Given the description of an element on the screen output the (x, y) to click on. 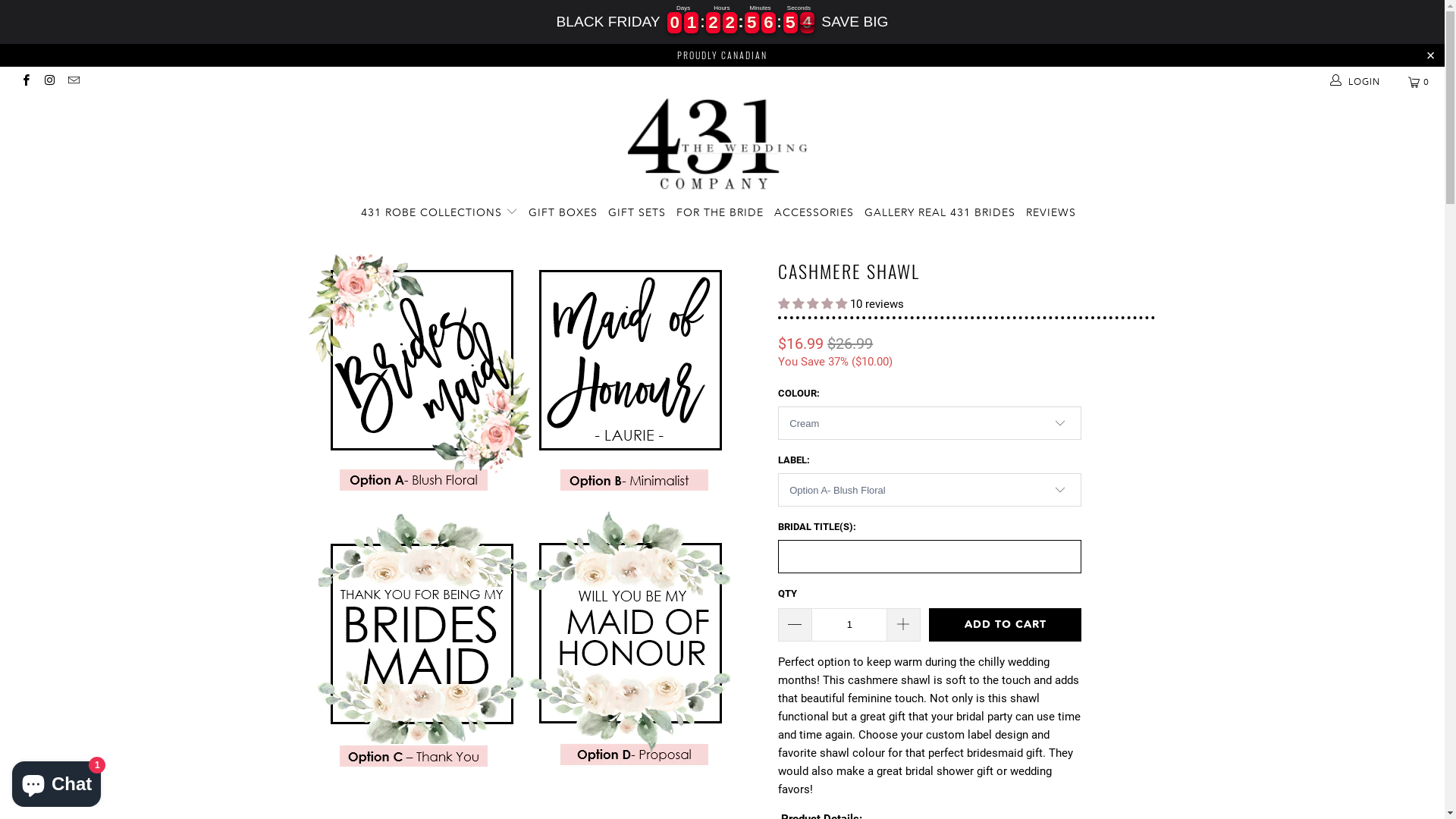
431 The Wedding Company Element type: hover (722, 145)
431 The Wedding Company on Instagram Element type: hover (48, 81)
0 Element type: text (790, 23)
GIFT BOXES Element type: text (562, 212)
Email 431 The Wedding Company Element type: hover (72, 81)
8
8 Element type: text (807, 23)
431 ROBE COLLECTIONS Element type: text (438, 212)
1
1 Element type: text (729, 23)
Shopify online store chat Element type: hover (56, 780)
4
4 Element type: text (751, 23)
0 Element type: text (1419, 81)
1
1 Element type: text (691, 23)
9
9 Element type: text (674, 23)
431 The Wedding Company on Facebook Element type: hover (24, 81)
REVIEWS Element type: text (1051, 212)
GIFT SETS Element type: text (636, 212)
7 Element type: text (768, 23)
ACCESSORIES Element type: text (813, 212)
LOGIN Element type: text (1355, 81)
FOR THE BRIDE Element type: text (719, 212)
GALLERY REAL 431 BRIDES Element type: text (939, 212)
ADD TO CART Element type: text (1004, 624)
1
1 Element type: text (713, 23)
